Given the description of an element on the screen output the (x, y) to click on. 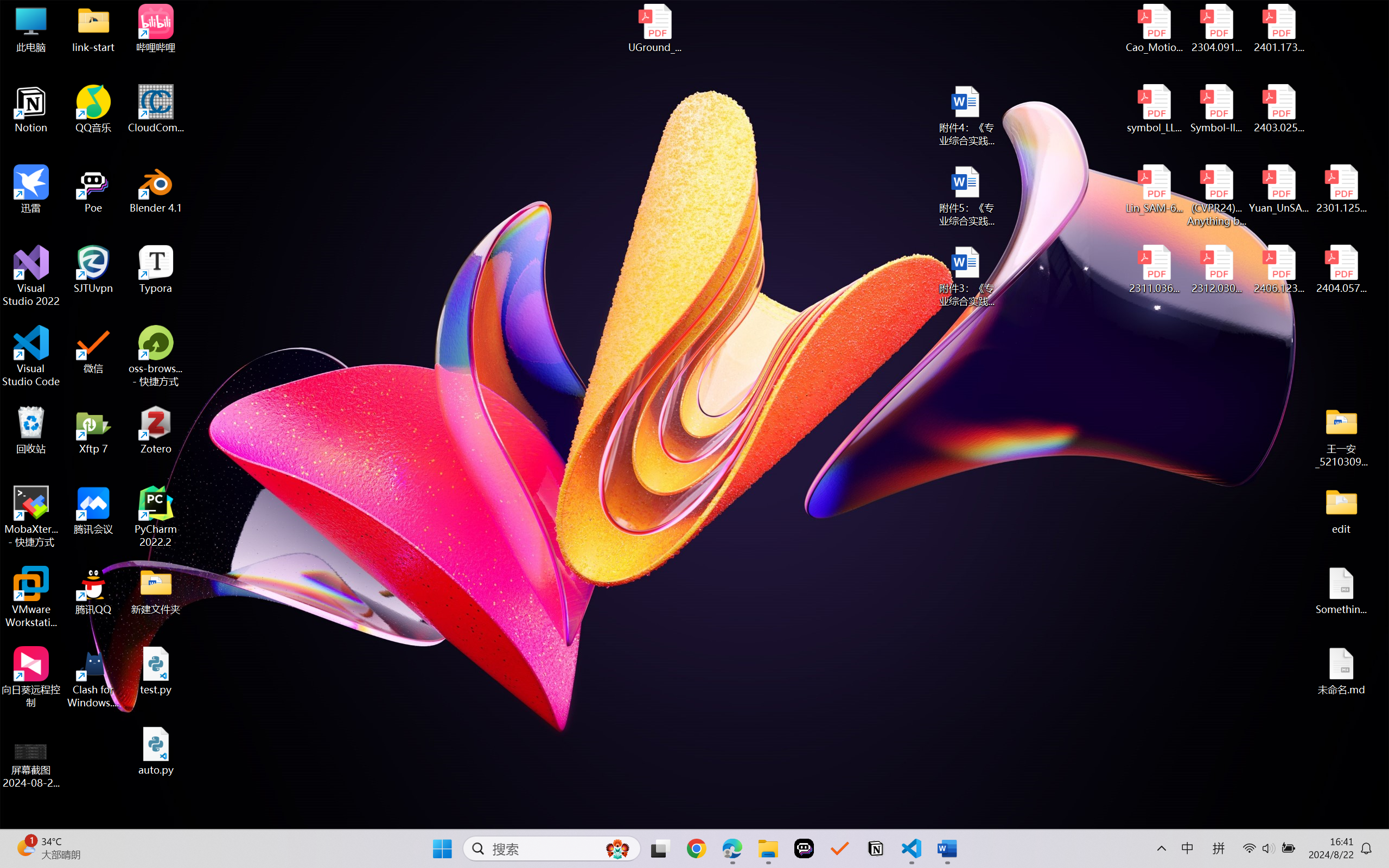
SJTUvpn (93, 269)
Xftp 7 (93, 430)
Visual Studio Code (31, 355)
symbol_LLM.pdf (1154, 109)
